Given the description of an element on the screen output the (x, y) to click on. 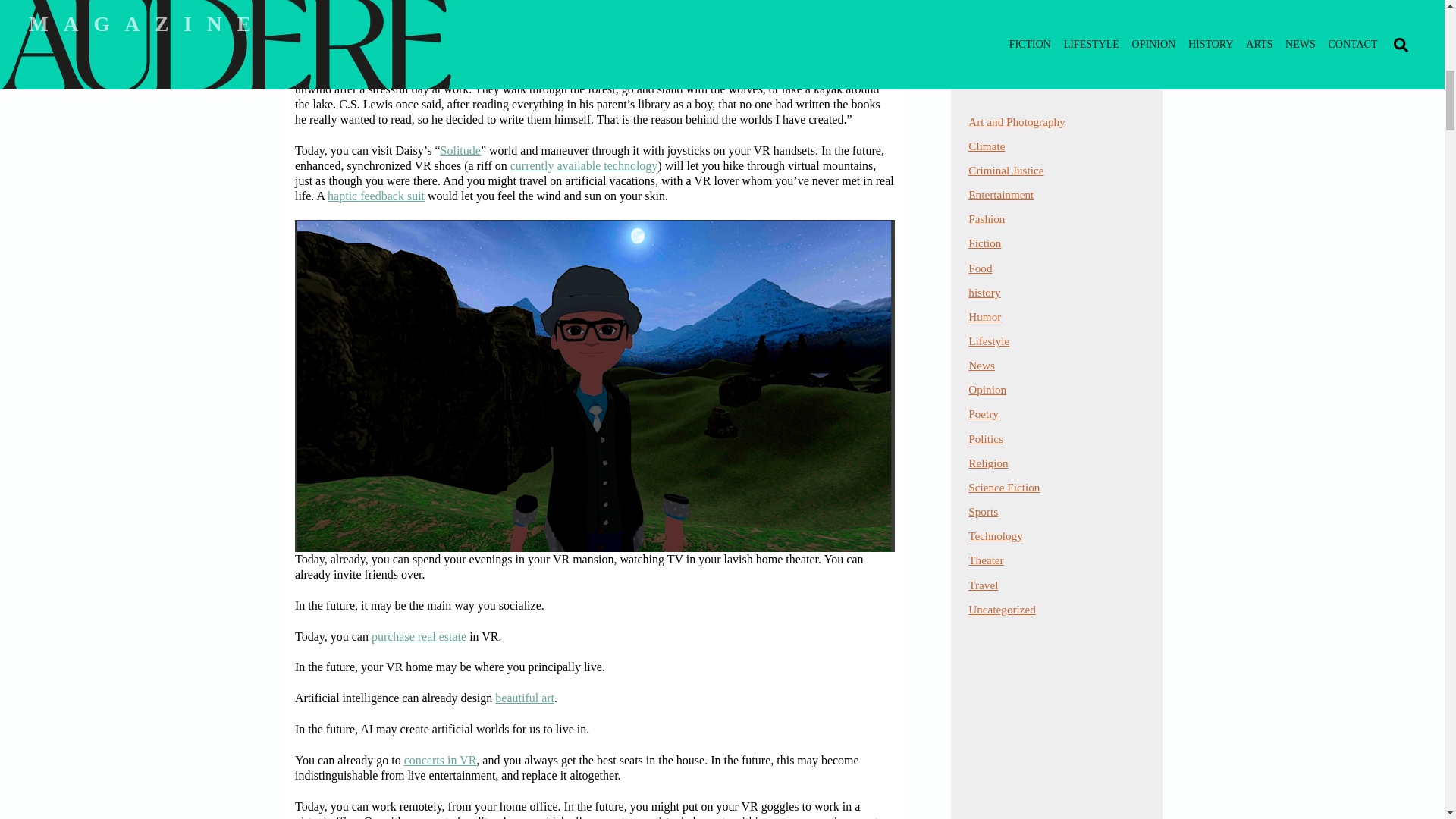
Solitude (400, 73)
beautiful art (524, 697)
purchase real estate (418, 635)
currently available technology (584, 164)
Solitude (460, 150)
haptic feedback suit (376, 195)
